Given the description of an element on the screen output the (x, y) to click on. 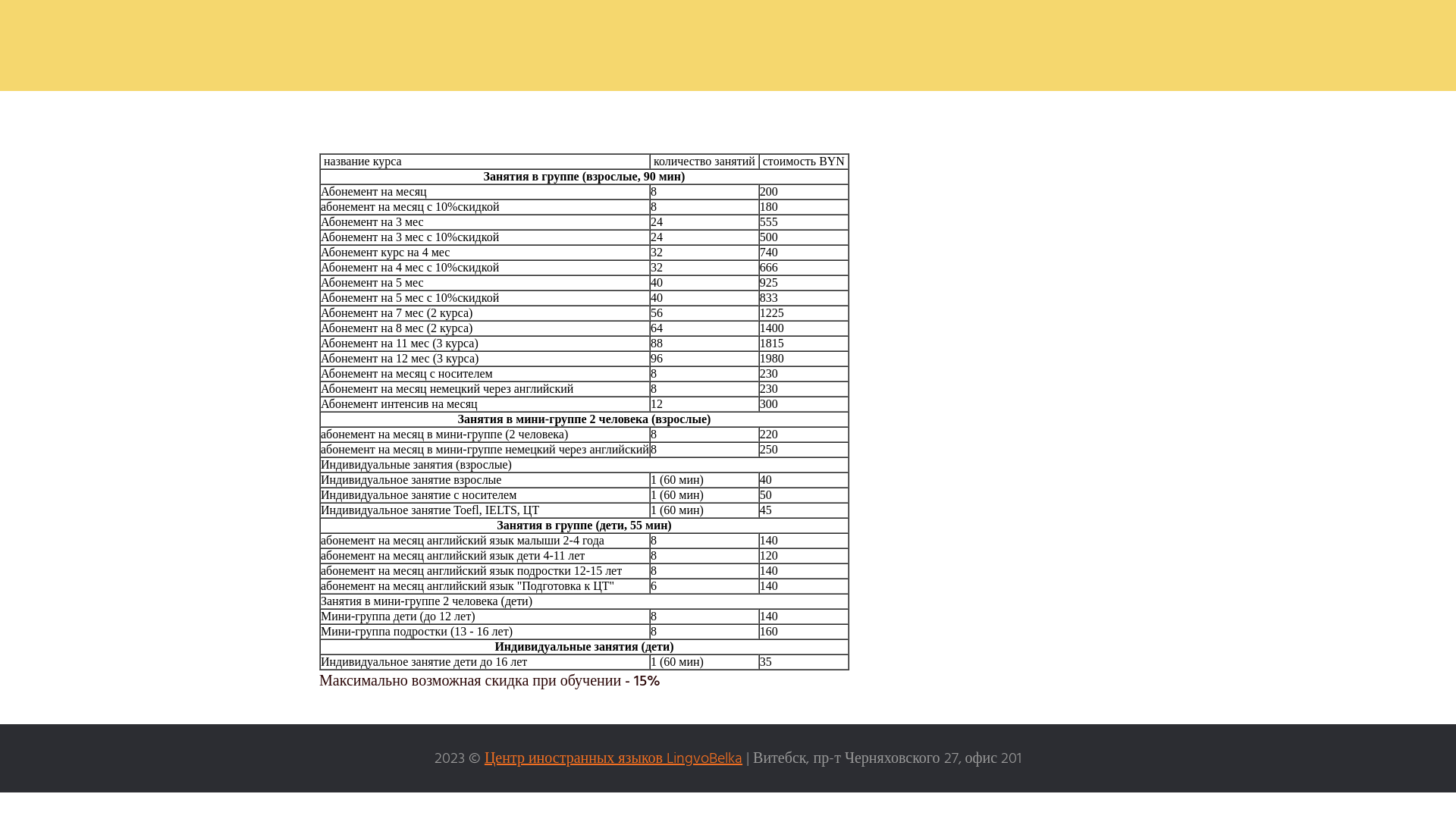
leon-logo Element type: hover (727, 45)
